Given the description of an element on the screen output the (x, y) to click on. 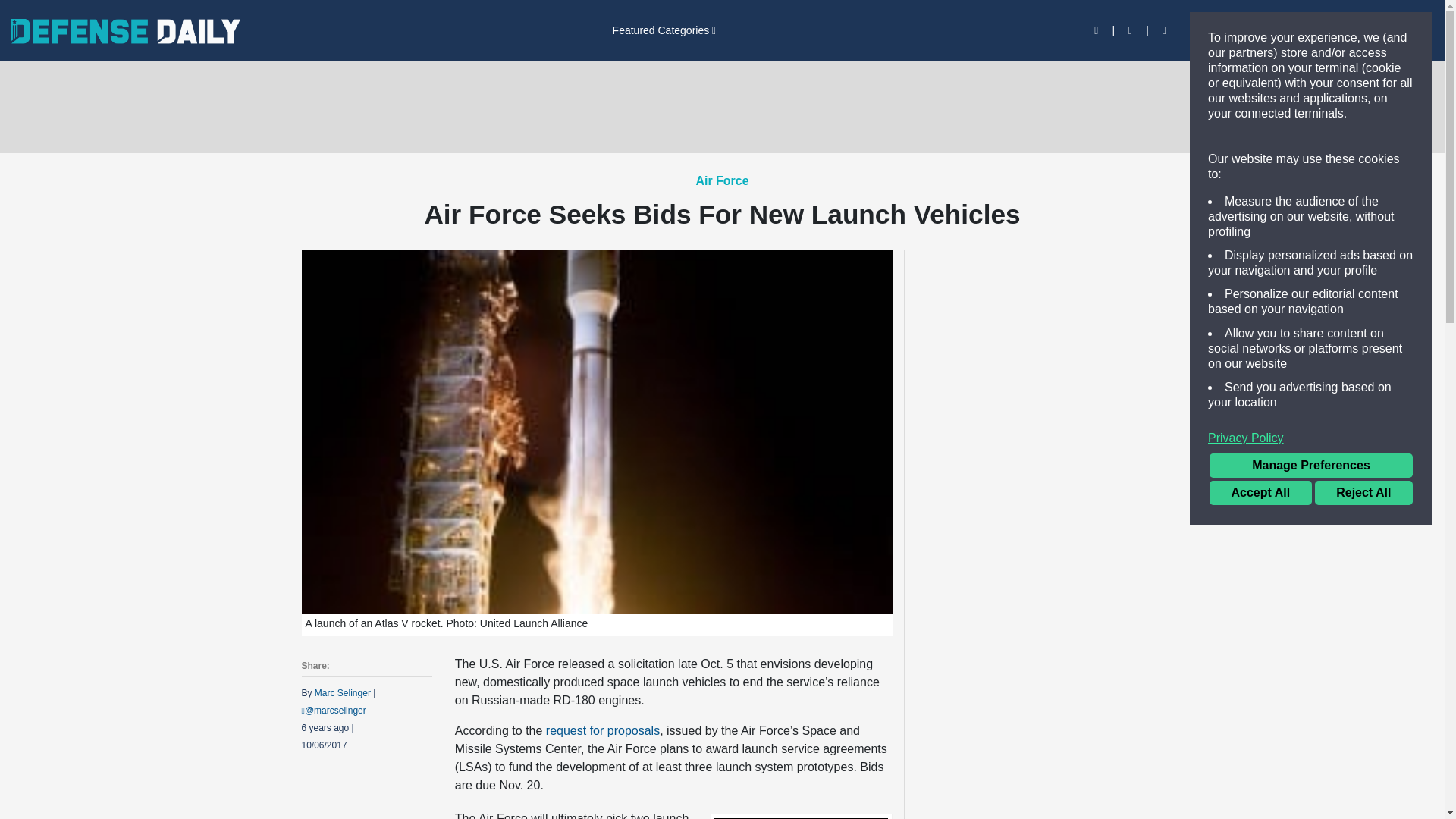
Manage Preferences (1310, 465)
Reject All (1363, 492)
Air Force (721, 180)
Accept All (1260, 492)
Signup (1257, 30)
Privacy Policy (1310, 437)
